Given the description of an element on the screen output the (x, y) to click on. 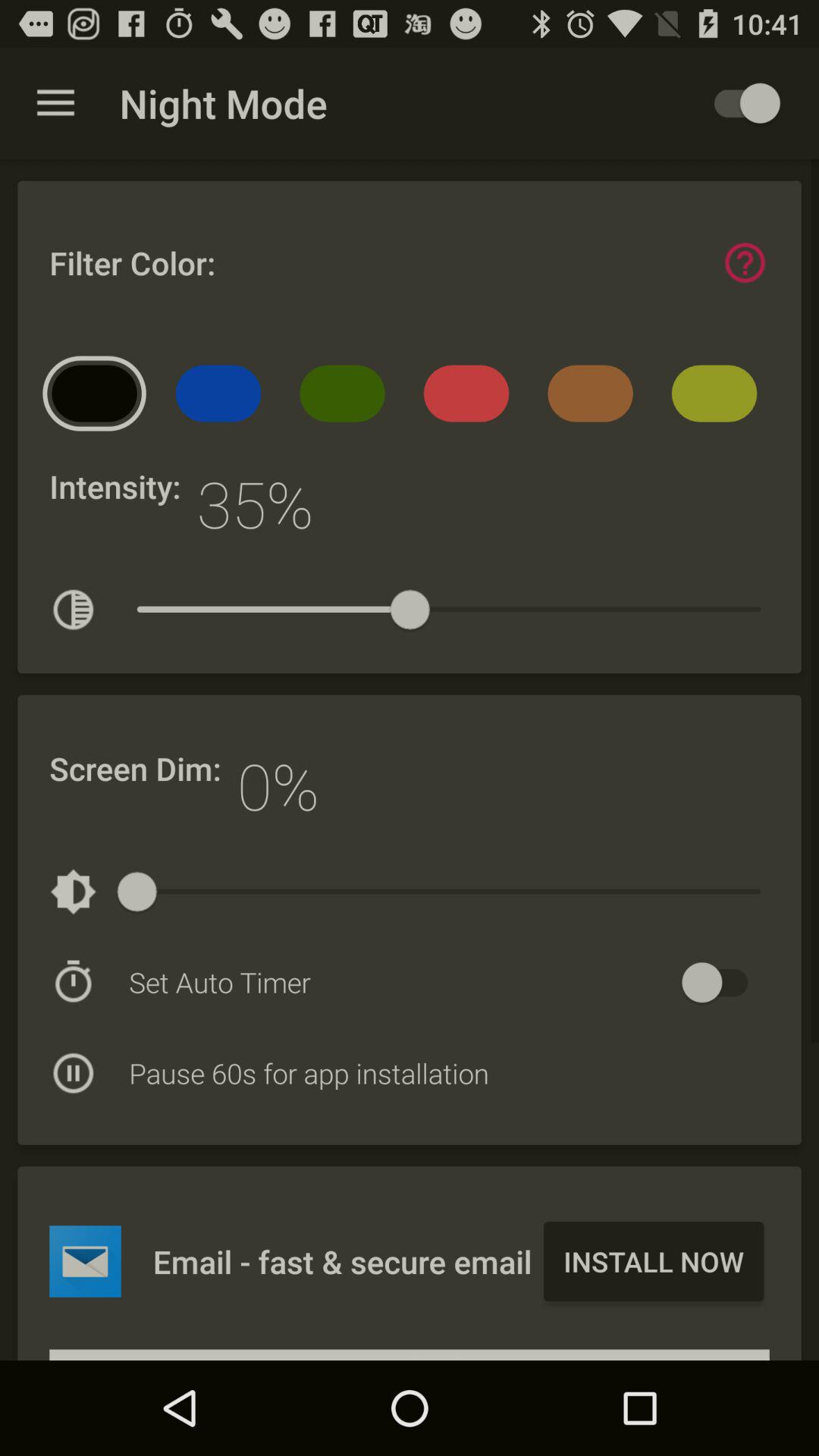
toggle auto timer (722, 982)
